Given the description of an element on the screen output the (x, y) to click on. 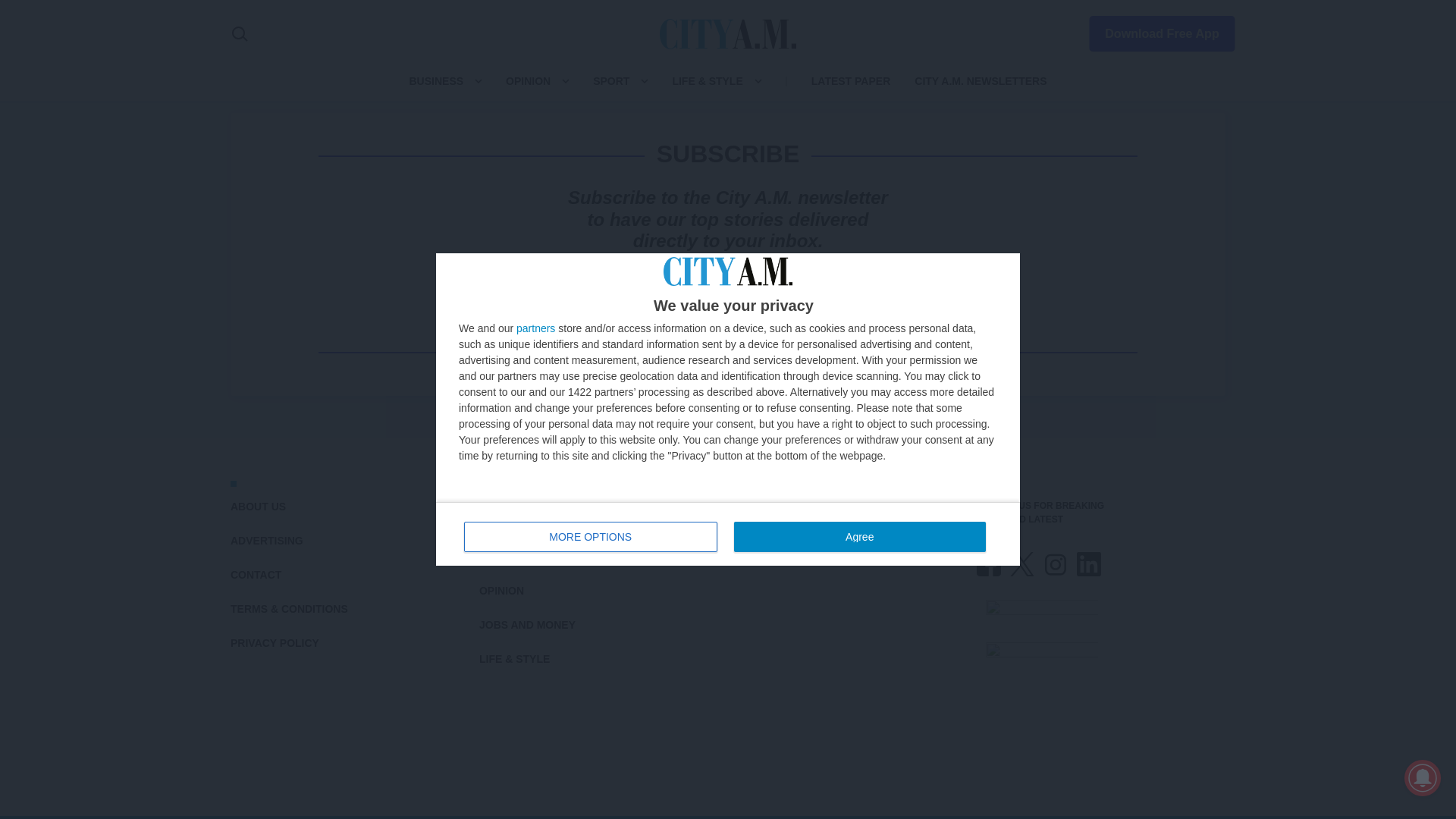
X (1021, 564)
INSTAGRAM (1055, 564)
LINKEDIN (1088, 564)
FACEBOOK (988, 564)
